Given the description of an element on the screen output the (x, y) to click on. 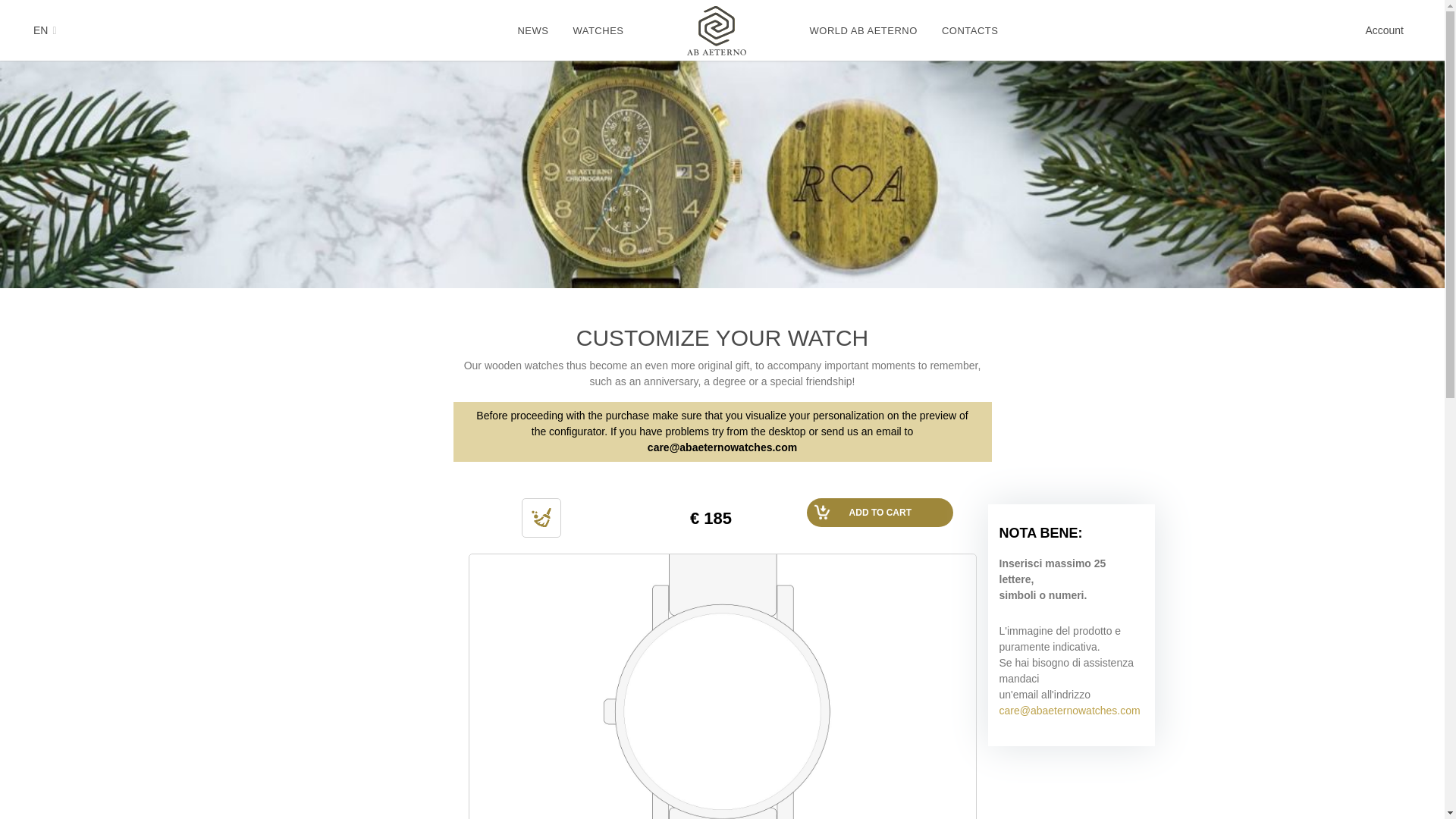
NEWS (532, 31)
Account (1384, 30)
WATCHES (597, 31)
CONTACTS (970, 31)
WORLD AB AETERNO (863, 31)
